Given the description of an element on the screen output the (x, y) to click on. 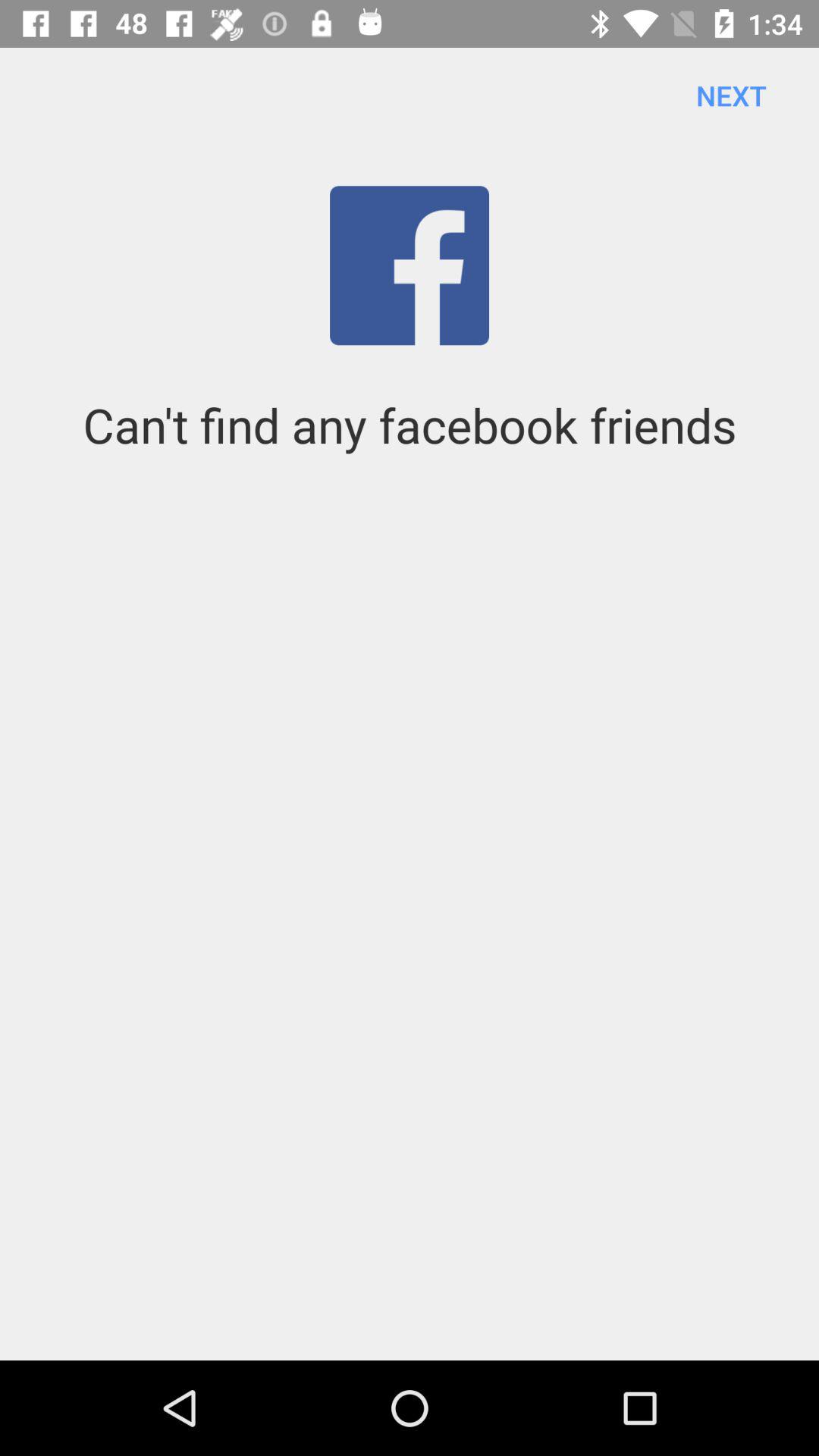
turn off the next item (731, 95)
